Given the description of an element on the screen output the (x, y) to click on. 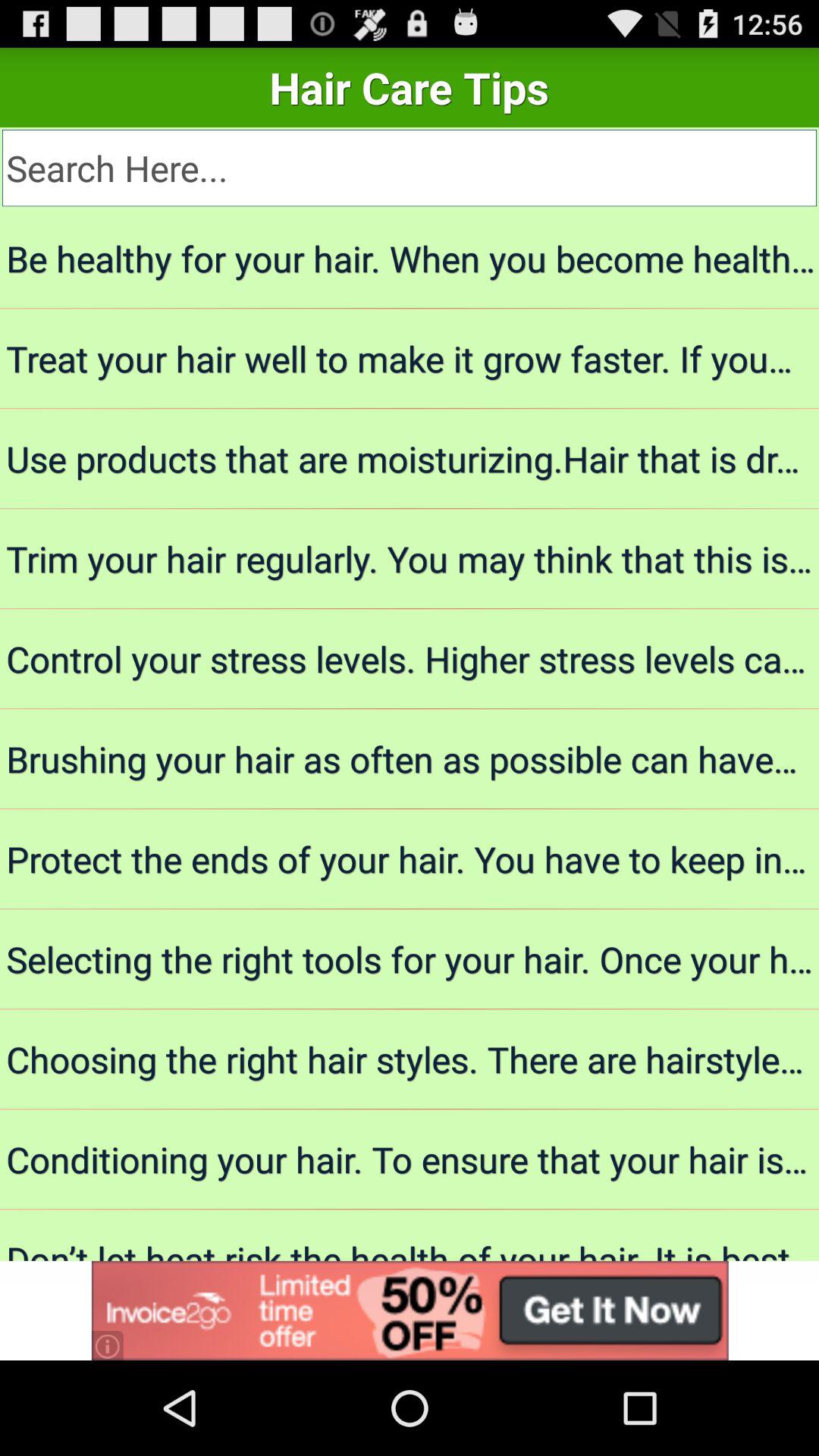
search field (409, 167)
